Given the description of an element on the screen output the (x, y) to click on. 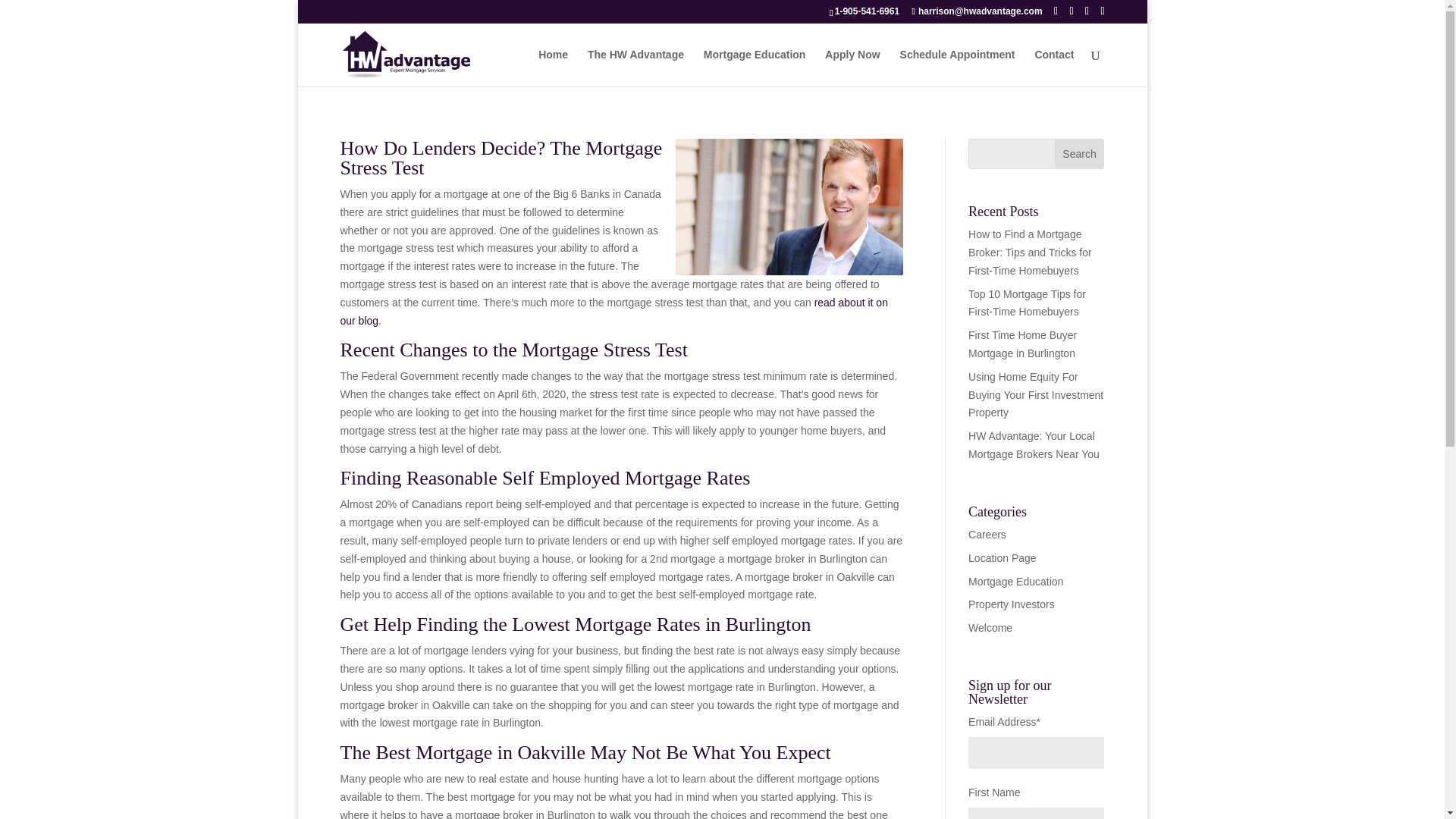
Careers (987, 534)
Using Home Equity For Buying Your First Investment Property (1035, 395)
Contact (1053, 67)
1-905-541-6961 (866, 10)
The HW Advantage (636, 67)
Location Page (1002, 558)
Search (1079, 153)
Schedule Appointment (956, 67)
HW Advantage: Your Local Mortgage Brokers Near You (1033, 444)
